Given the description of an element on the screen output the (x, y) to click on. 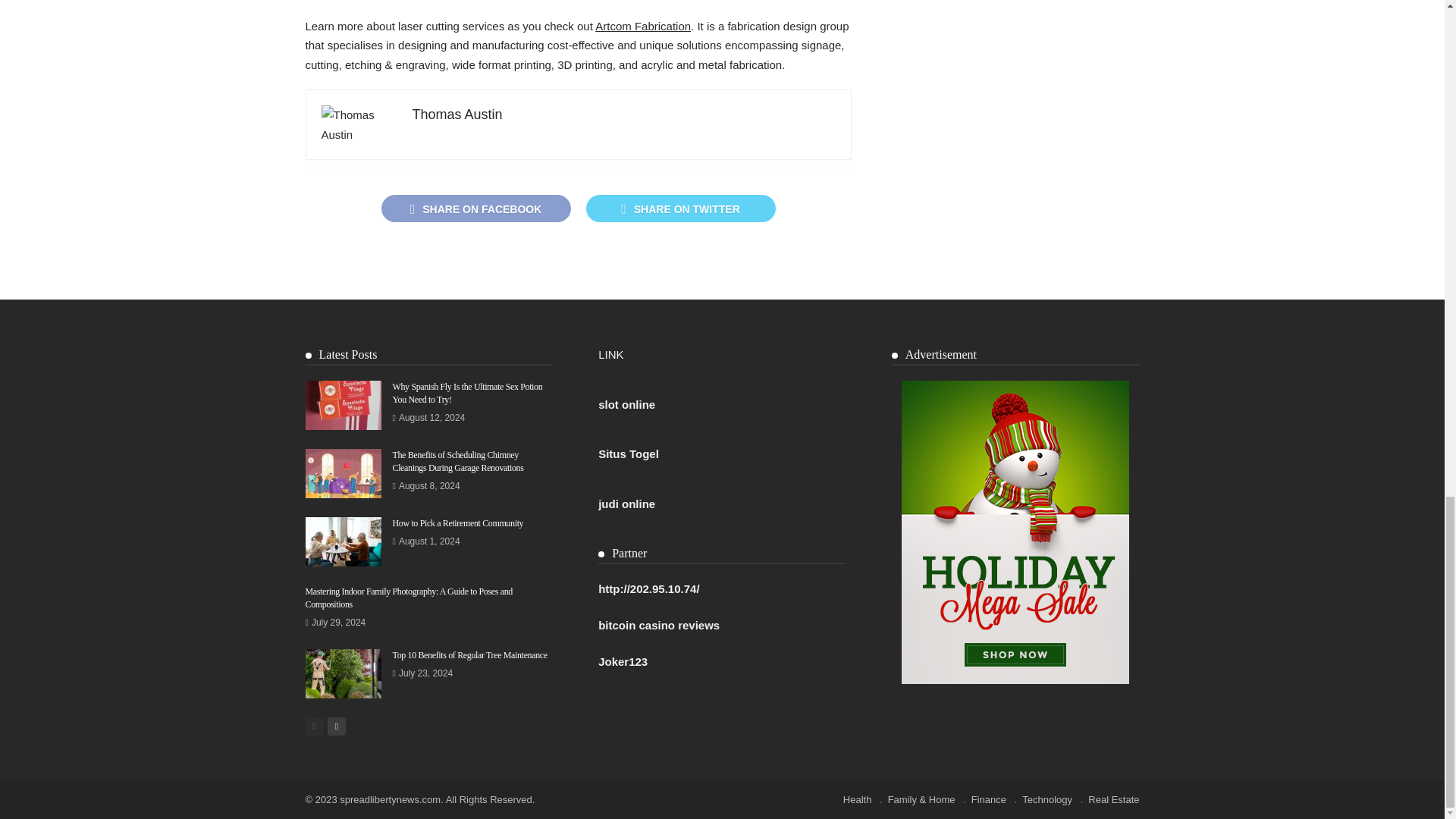
How to Pick a Retirement Community (342, 541)
Why Spanish Fly Is the Ultimate Sex Potion You Need to Try! (342, 404)
Why Spanish Fly Is the Ultimate Sex Potion You Need to Try! (468, 392)
